Given the description of an element on the screen output the (x, y) to click on. 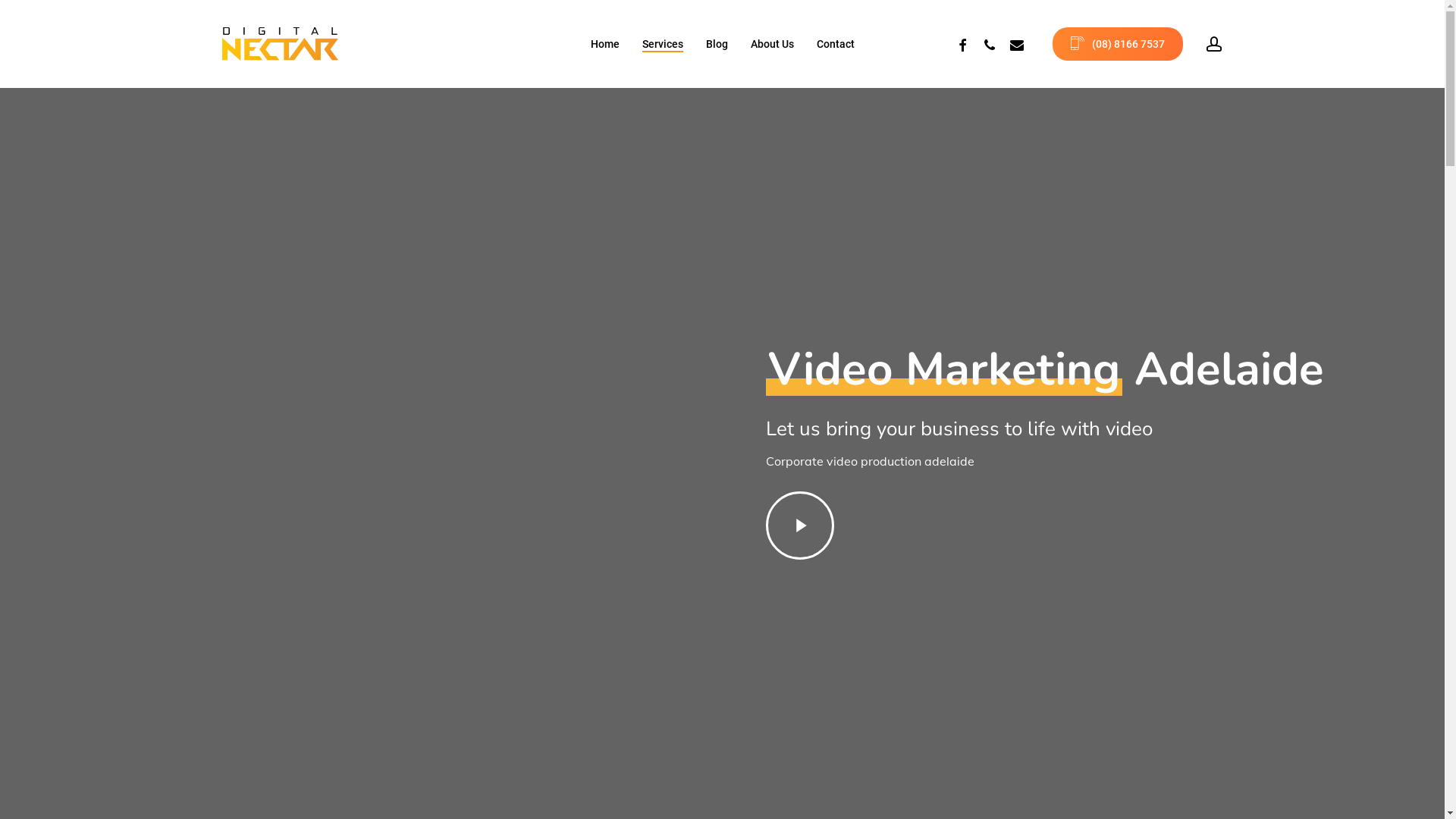
Blog Element type: text (716, 43)
Phone Element type: text (988, 43)
Facebook Element type: text (961, 43)
About Us Element type: text (771, 43)
(08) 8166 7537 Element type: text (1117, 43)
Services Element type: text (661, 43)
Home Element type: text (603, 43)
Contact Element type: text (834, 43)
Play Video Element type: text (799, 525)
Email Element type: text (1015, 43)
account Element type: text (1213, 44)
